Given the description of an element on the screen output the (x, y) to click on. 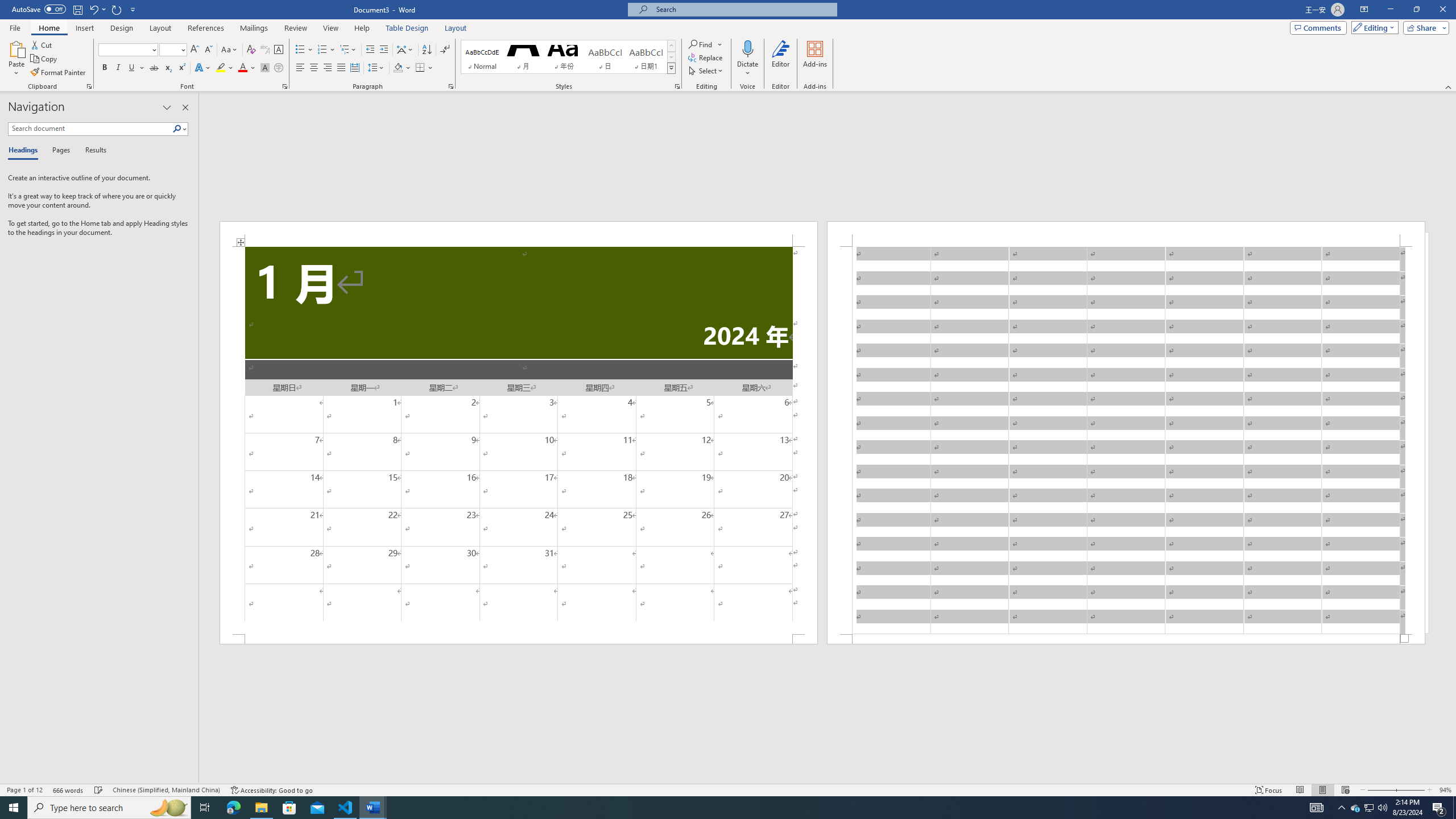
Insert (83, 28)
Close (1442, 9)
References (205, 28)
Text Highlight Color (224, 67)
Task Pane Options (167, 107)
Decrease Indent (370, 49)
Language Chinese (Simplified, Mainland China) (165, 790)
Distributed (354, 67)
Center (313, 67)
AutoSave (38, 9)
Comments (1318, 27)
Home (48, 28)
Dictate (747, 48)
Sort... (426, 49)
